Given the description of an element on the screen output the (x, y) to click on. 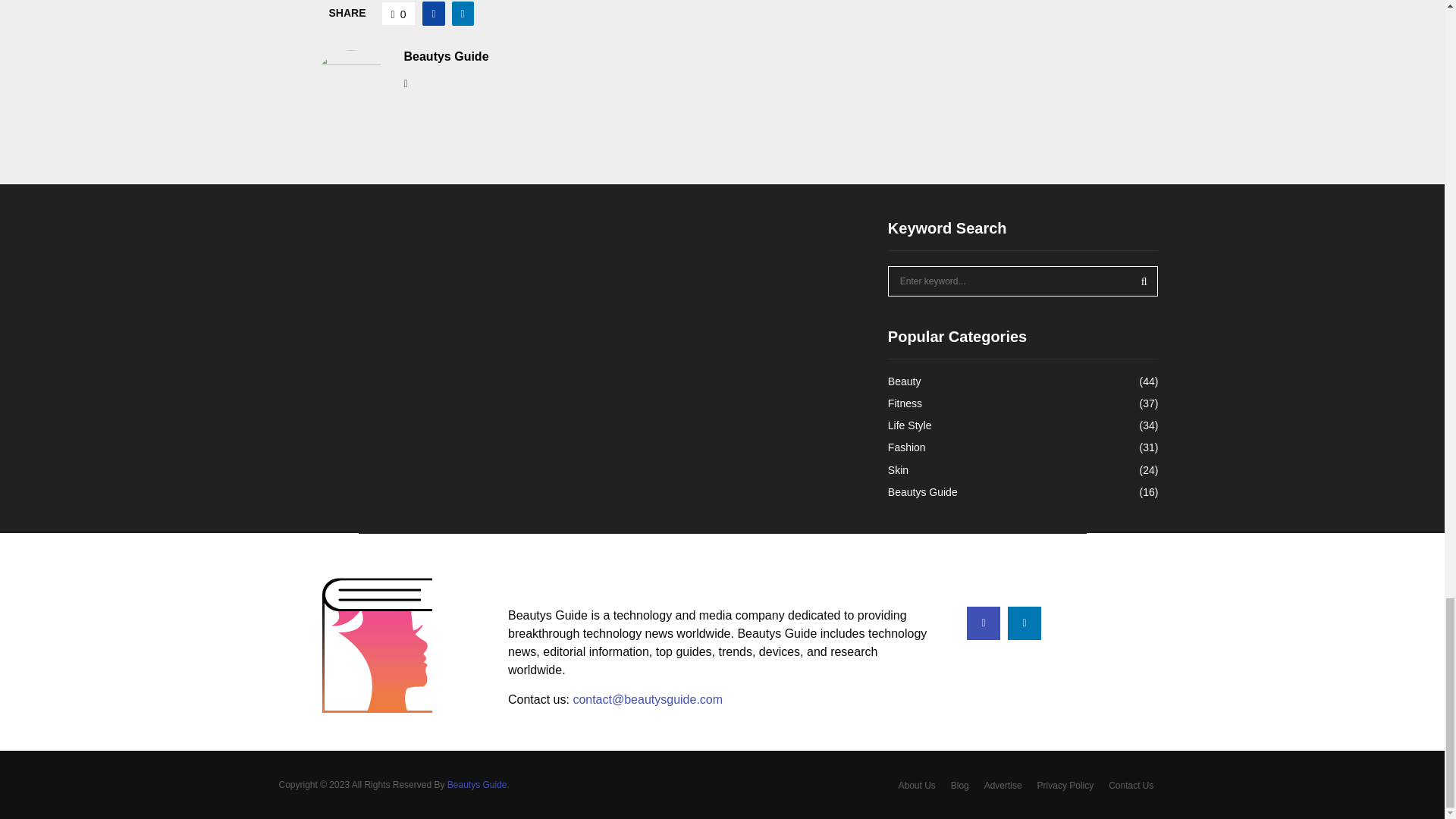
Like (398, 13)
Facebook (983, 622)
Posts by Beautys Guide (445, 57)
0 (398, 13)
